Given the description of an element on the screen output the (x, y) to click on. 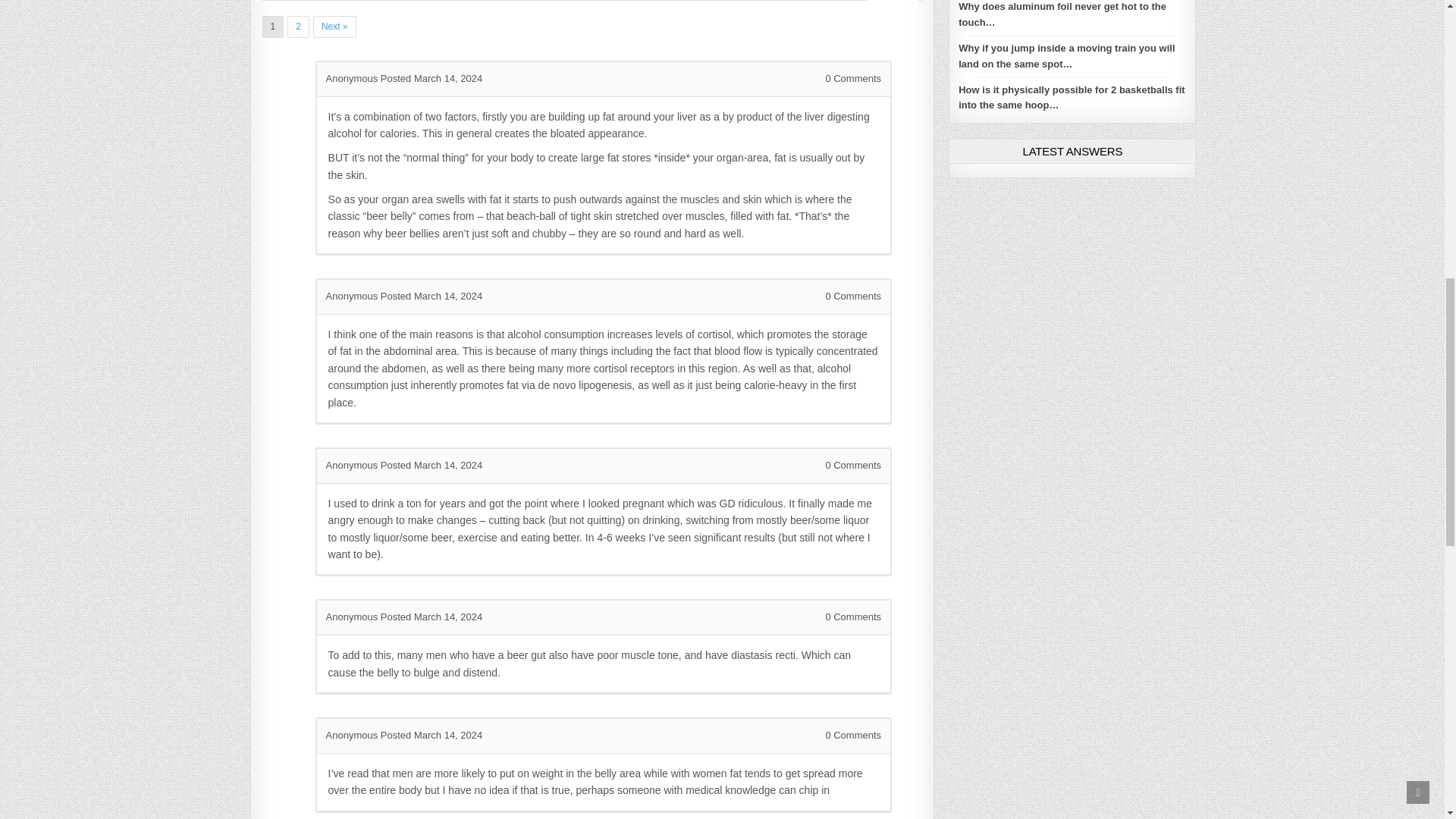
Posted March 14, 2024 (430, 296)
Posted March 14, 2024 (430, 464)
Oldest (776, 0)
Posted March 14, 2024 (430, 735)
Newest (832, 0)
Posted March 14, 2024 (430, 616)
2 (297, 26)
Posted March 14, 2024 (430, 78)
Active (892, 0)
